Given the description of an element on the screen output the (x, y) to click on. 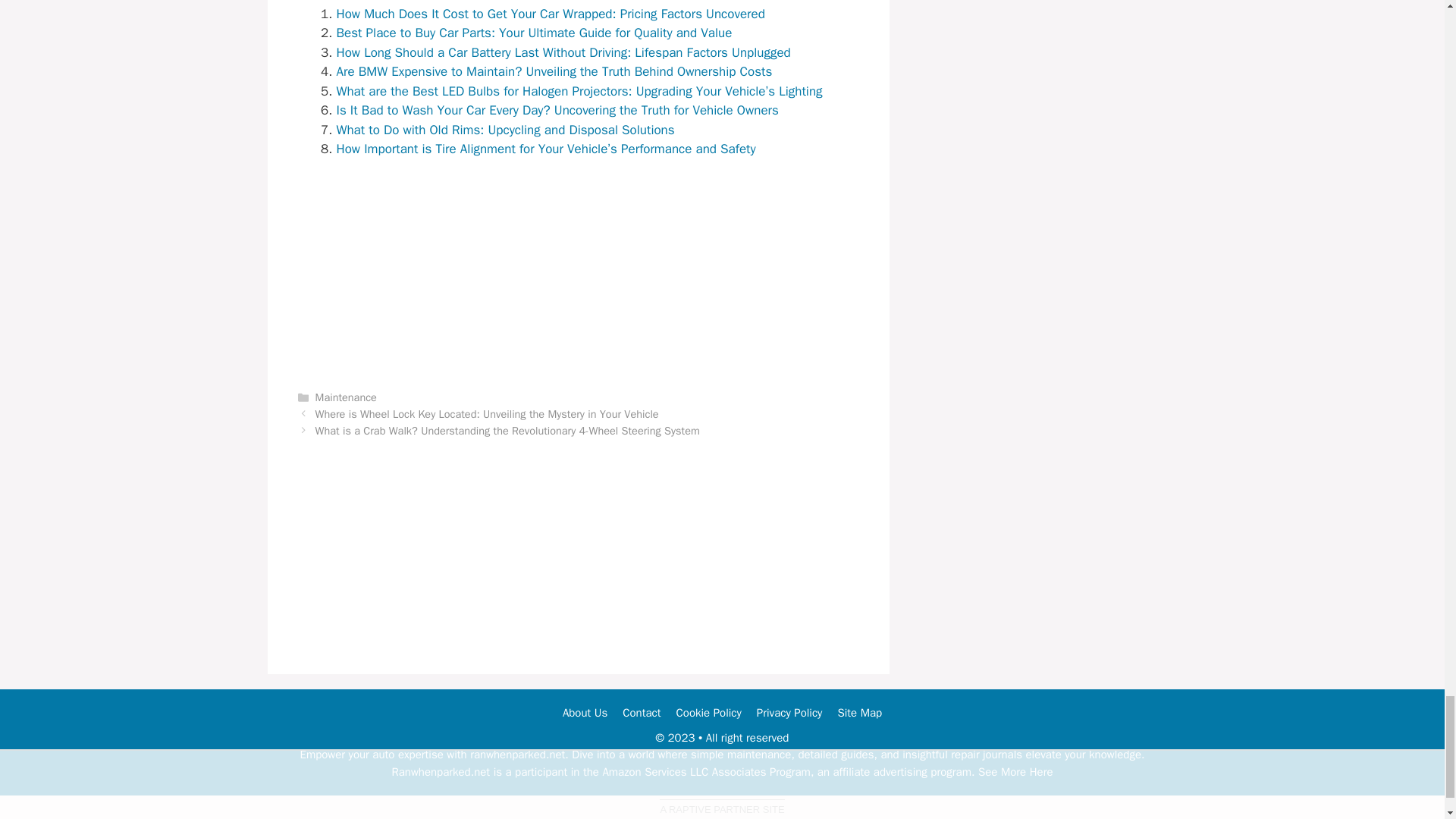
What to Do with Old Rims: Upcycling and Disposal Solutions (505, 130)
